Given the description of an element on the screen output the (x, y) to click on. 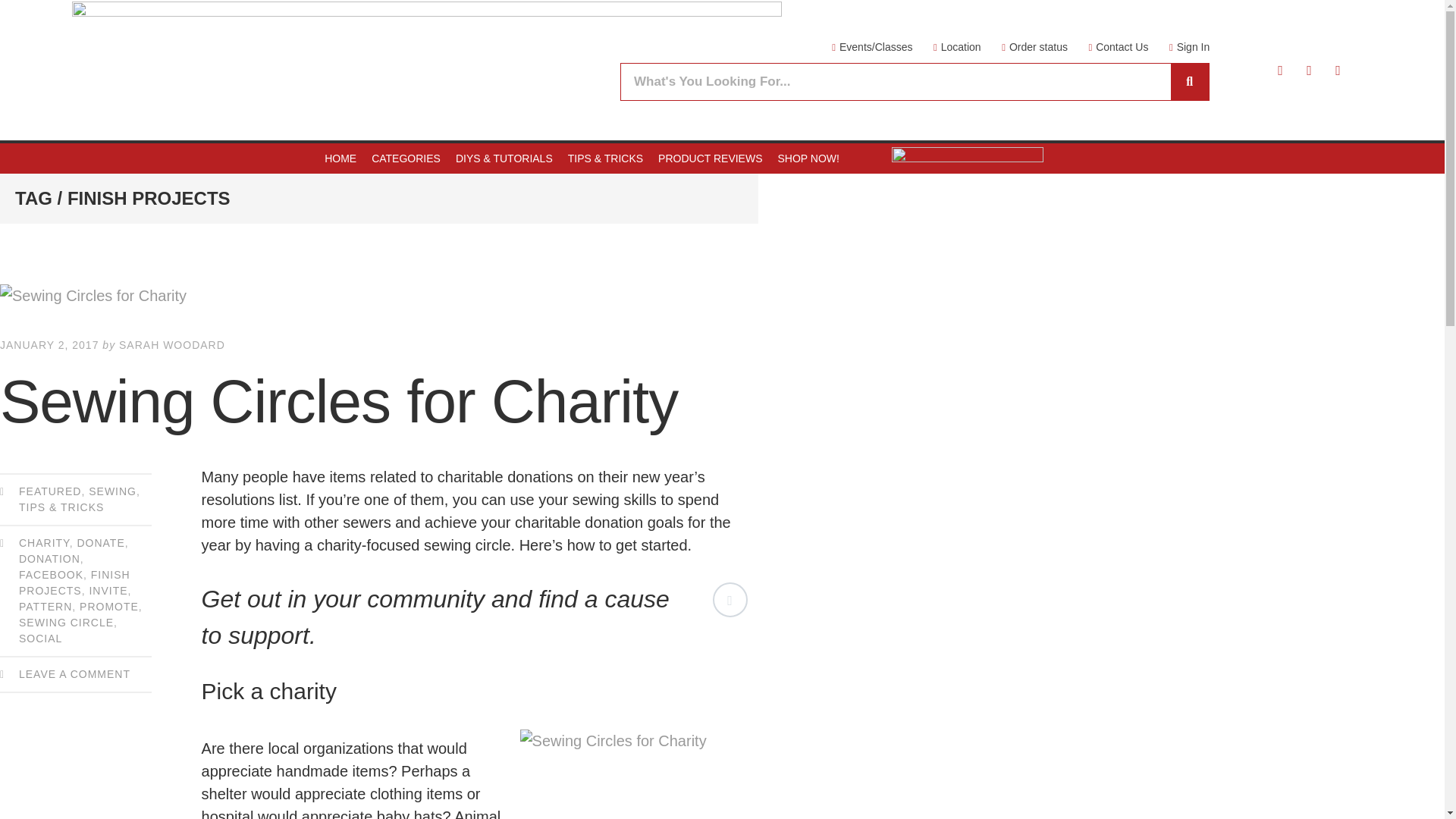
Search (895, 81)
SHOP NOW! (808, 158)
Sewing Circles for Charity (379, 295)
PRODUCT REVIEWS (709, 158)
HOME (340, 158)
Search (1189, 81)
CATEGORIES (406, 158)
